Given the description of an element on the screen output the (x, y) to click on. 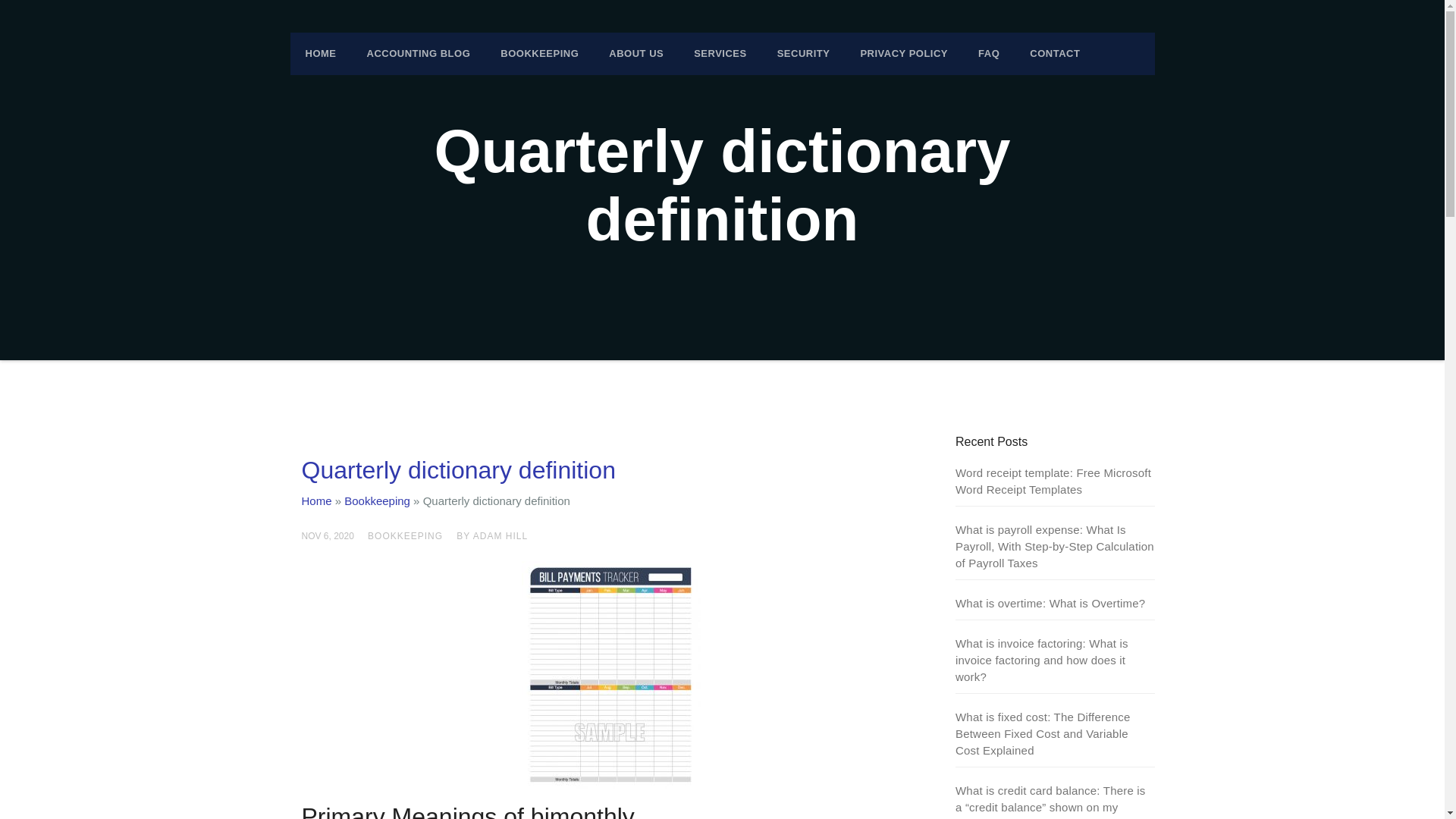
Word receipt template: Free Microsoft Word Receipt Templates (1053, 481)
Quarterly dictionary definition (458, 470)
ABOUT US (636, 53)
CONTACT (1054, 53)
What is overtime: What is Overtime? (1049, 603)
Home (316, 500)
ACCOUNTING BLOG (419, 53)
SECURITY (803, 53)
